Given the description of an element on the screen output the (x, y) to click on. 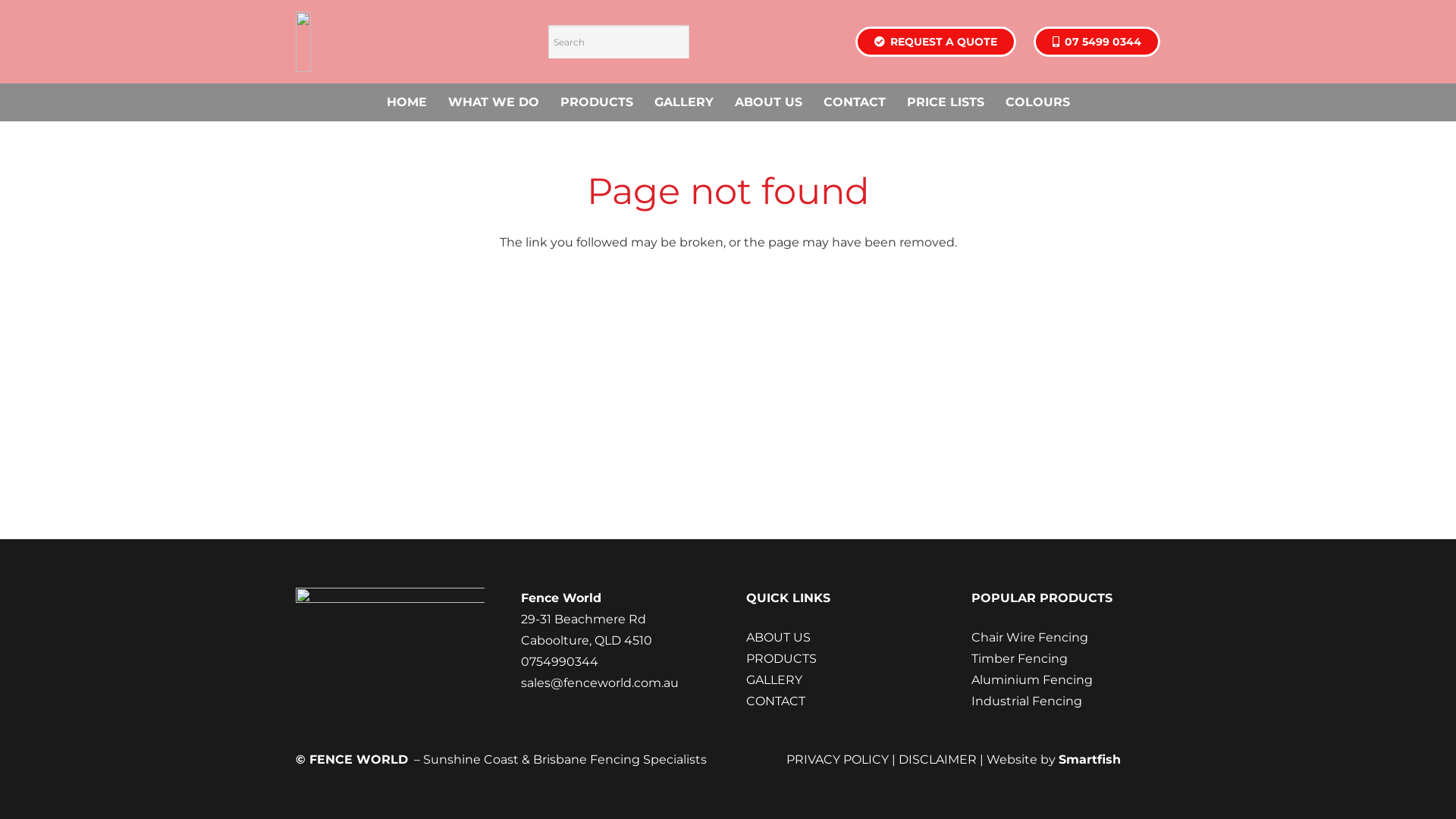
GALLERY Element type: text (683, 102)
HOME Element type: text (406, 102)
Industrial Fencing Element type: text (1026, 700)
GALLERY Element type: text (774, 679)
REQUEST A QUOTE Element type: text (935, 41)
Chair Wire Fencing Element type: text (1029, 637)
Website by Smartfish Element type: text (1051, 759)
PRODUCTS Element type: text (596, 102)
CONTACT Element type: text (854, 102)
Aluminium Fencing Element type: text (1031, 679)
ABOUT US Element type: text (767, 102)
PRODUCTS Element type: text (781, 658)
sales@fenceworld.com.au Element type: text (599, 682)
PRICE LISTS Element type: text (945, 102)
Timber Fencing Element type: text (1019, 658)
07 5499 0344 Element type: text (1096, 41)
PRIVACY POLICY Element type: text (836, 759)
COLOURS Element type: text (1037, 102)
0754990344 Element type: text (559, 661)
WHAT WE DO Element type: text (492, 102)
CONTACT Element type: text (775, 700)
ABOUT US Element type: text (778, 637)
